Given the description of an element on the screen output the (x, y) to click on. 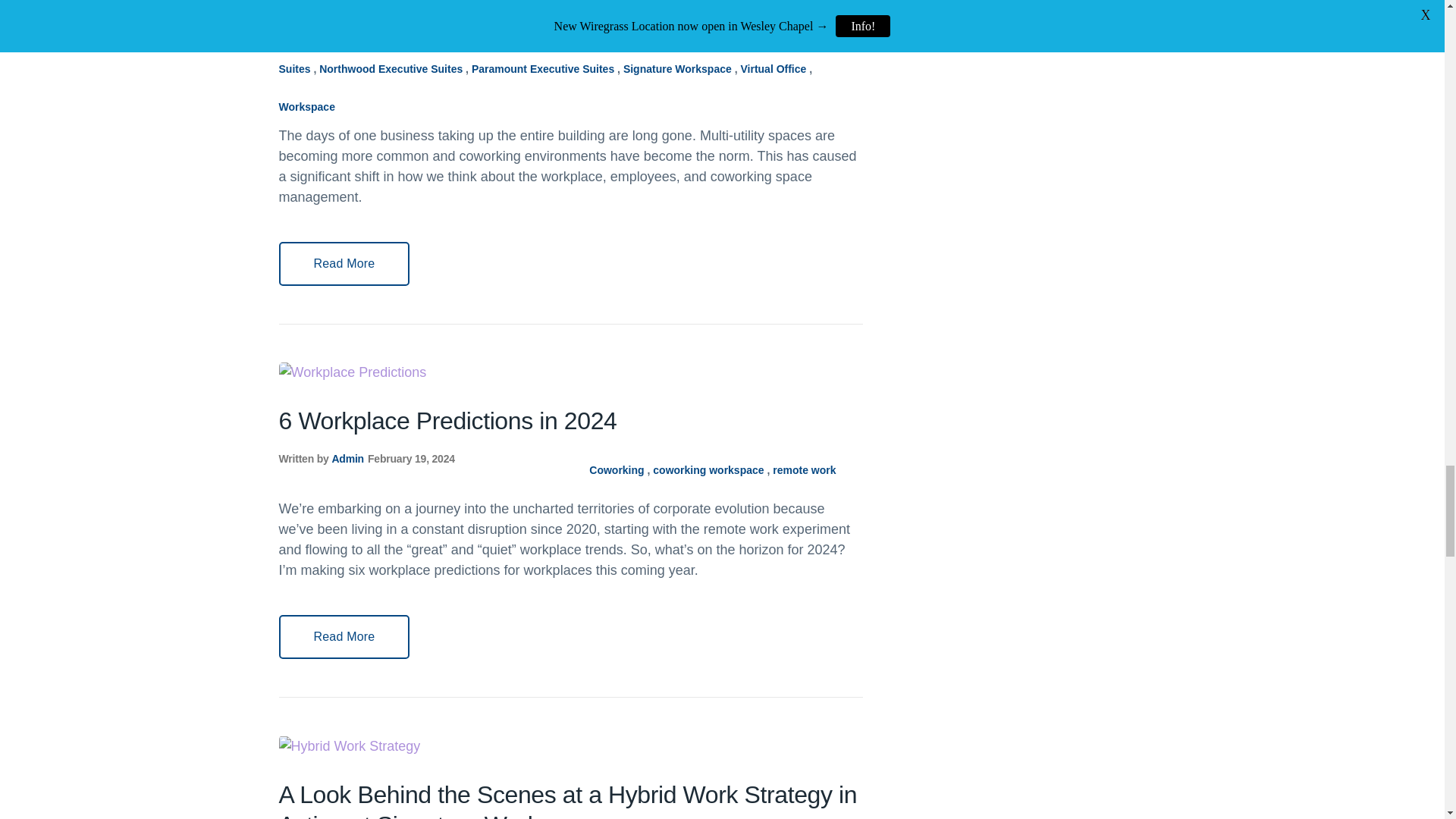
View all posts by Admin (347, 458)
Read More (344, 263)
Read More (344, 637)
